Given the description of an element on the screen output the (x, y) to click on. 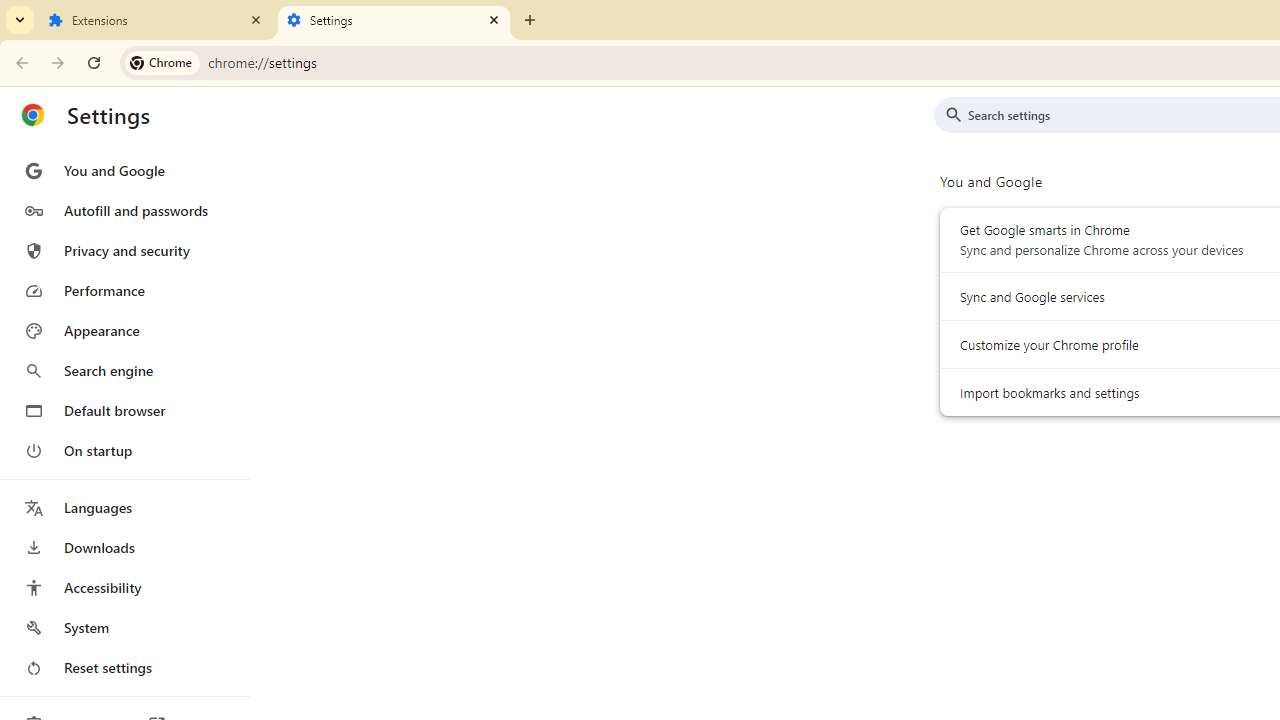
Default browser (124, 410)
Performance (124, 290)
Settings (394, 20)
Autofill and passwords (124, 210)
Reset settings (124, 668)
Languages (124, 507)
Appearance (124, 331)
Search engine (124, 370)
